Given the description of an element on the screen output the (x, y) to click on. 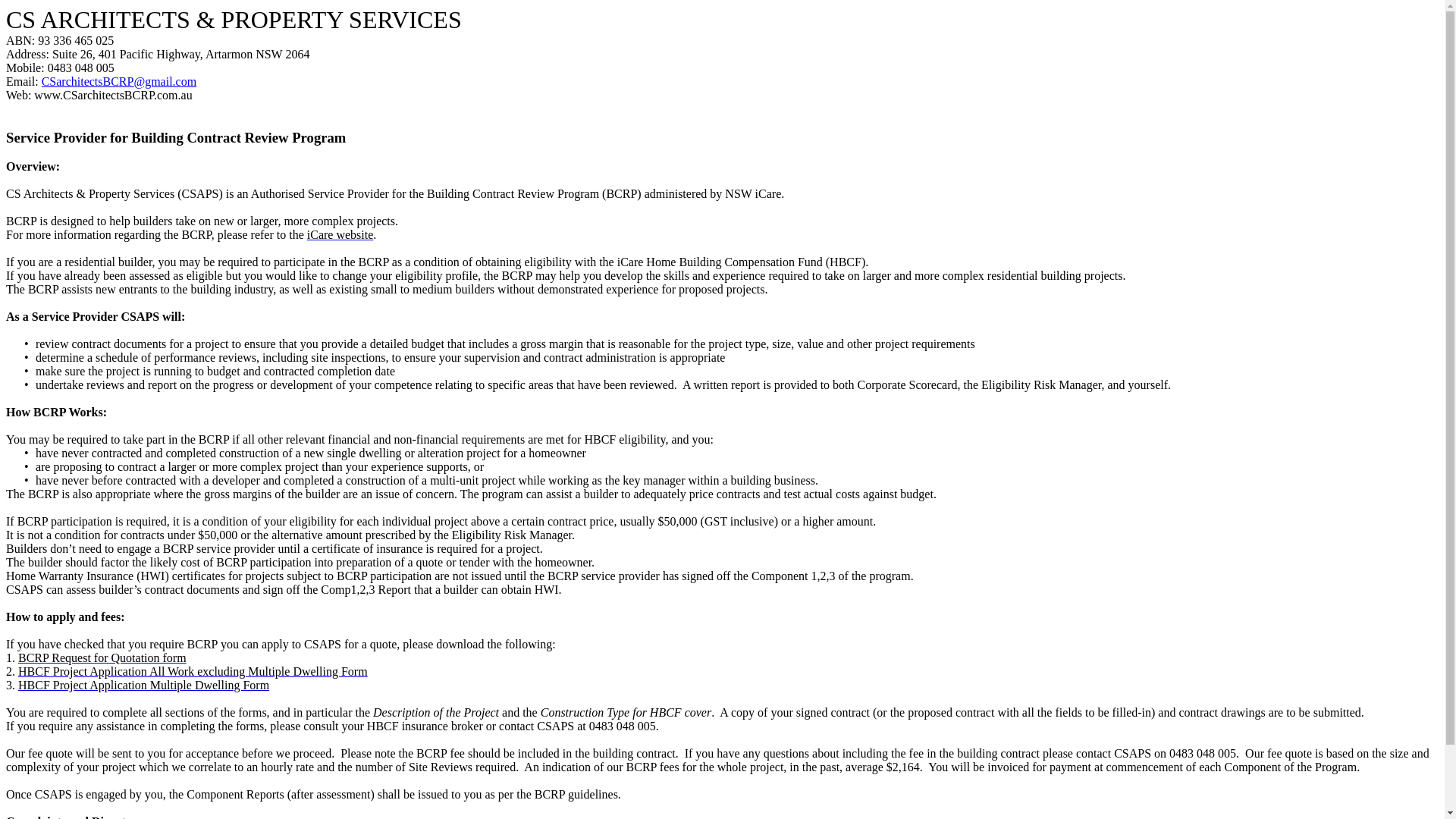
BCRP Request for Quotation form Element type: text (102, 657)
iCare website Element type: text (340, 234)
HBCF Project Application Multiple Dwelling Form Element type: text (143, 684)
CSarchitectsBCRP@gmail.com Element type: text (119, 81)
